Given the description of an element on the screen output the (x, y) to click on. 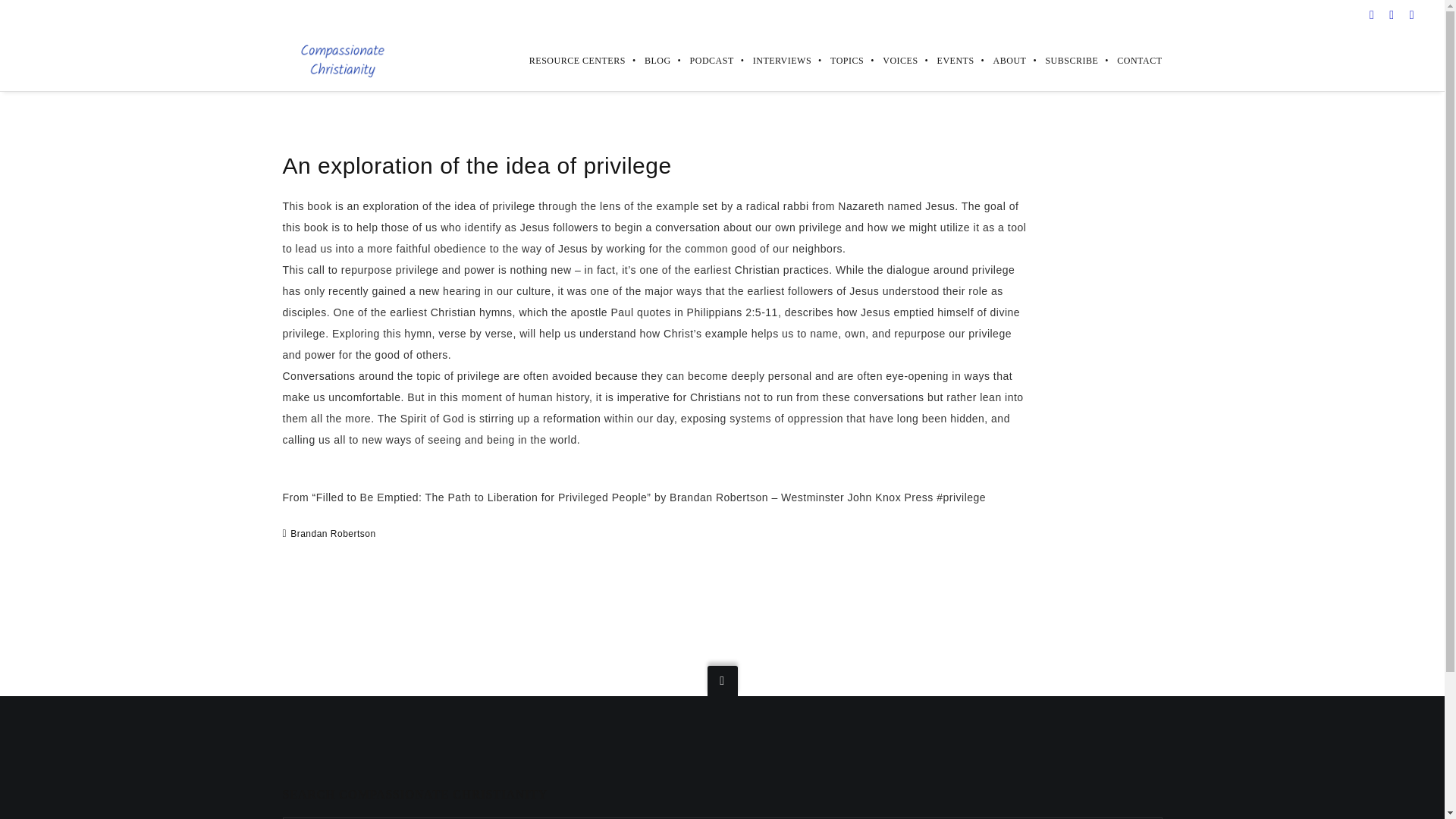
CONTACT (1129, 60)
Brandan Robertson (332, 532)
SUBSCRIBE (1061, 60)
EVENTS (946, 60)
Compassionate Christianity (341, 60)
RESOURCE CENTERS (568, 60)
INTERVIEWS (771, 60)
PODCAST (702, 60)
Search (31, 15)
